Given the description of an element on the screen output the (x, y) to click on. 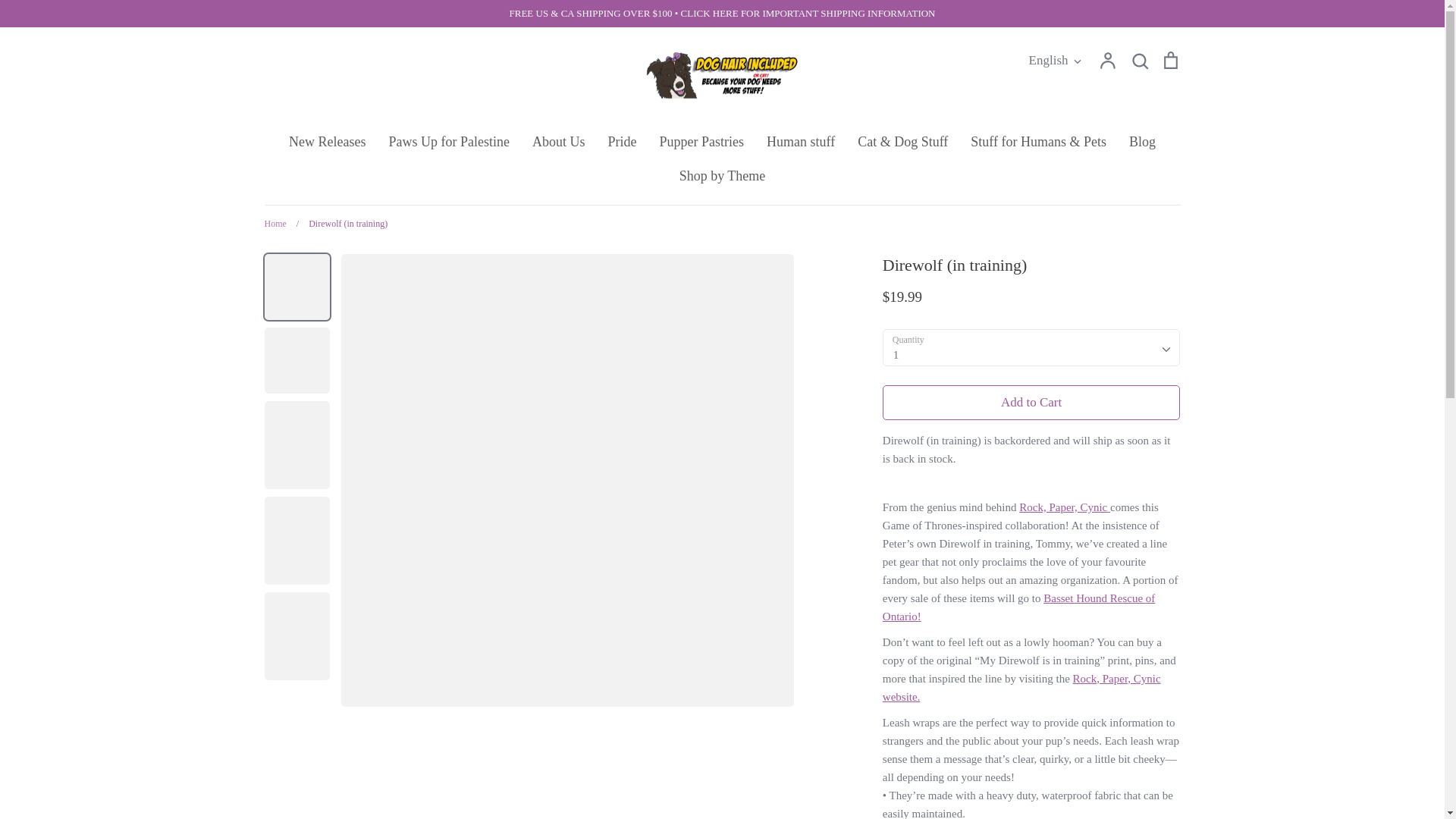
Pupper Pastries (701, 141)
English (1056, 60)
1 (1031, 347)
Search (1139, 59)
About Us (558, 141)
Paws Up for Palestine (448, 141)
Pride (621, 141)
New Releases (326, 141)
Human stuff (800, 141)
Account (1107, 59)
